Given the description of an element on the screen output the (x, y) to click on. 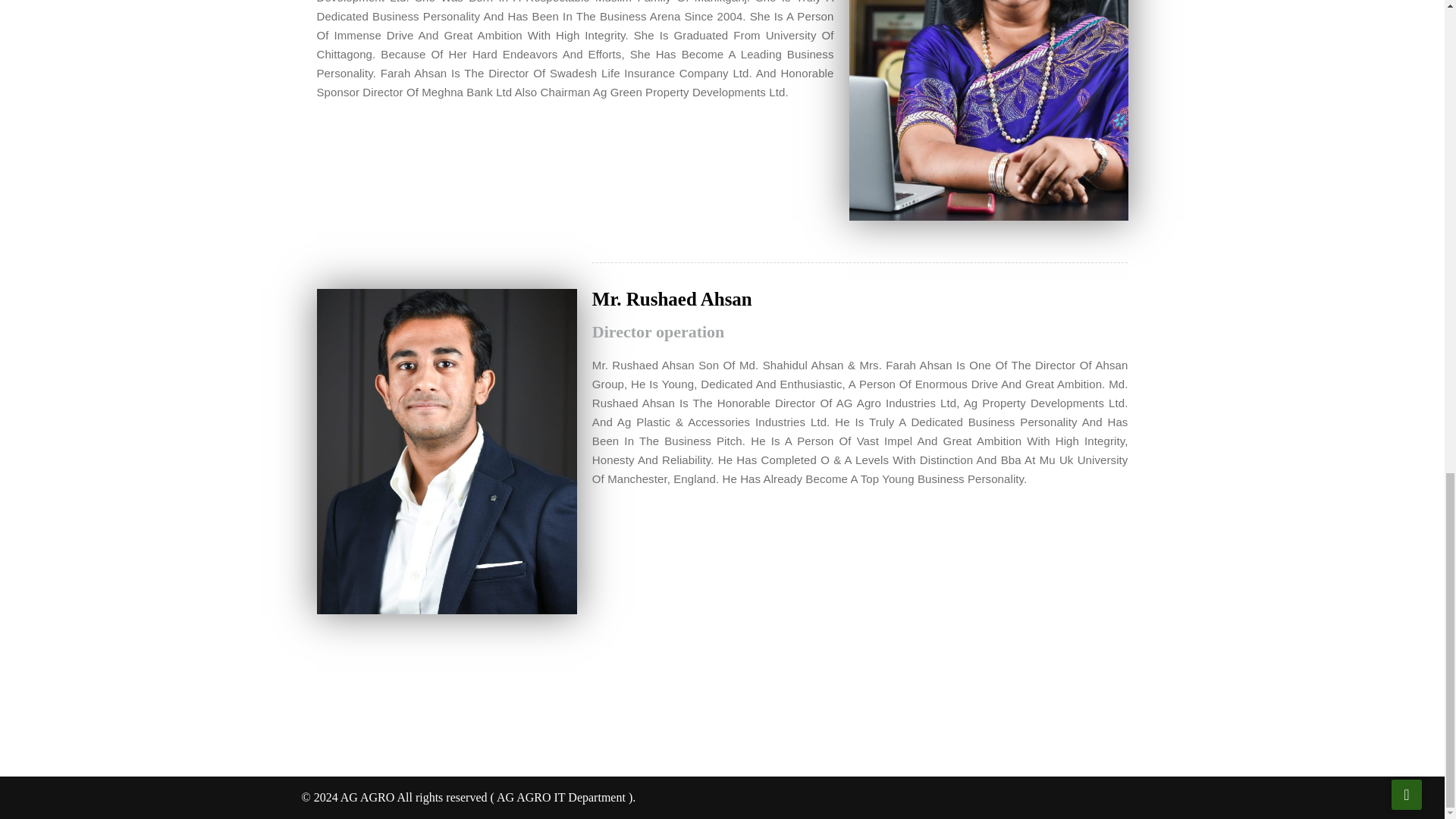
HRI (446, 451)
HRI (988, 110)
